Given the description of an element on the screen output the (x, y) to click on. 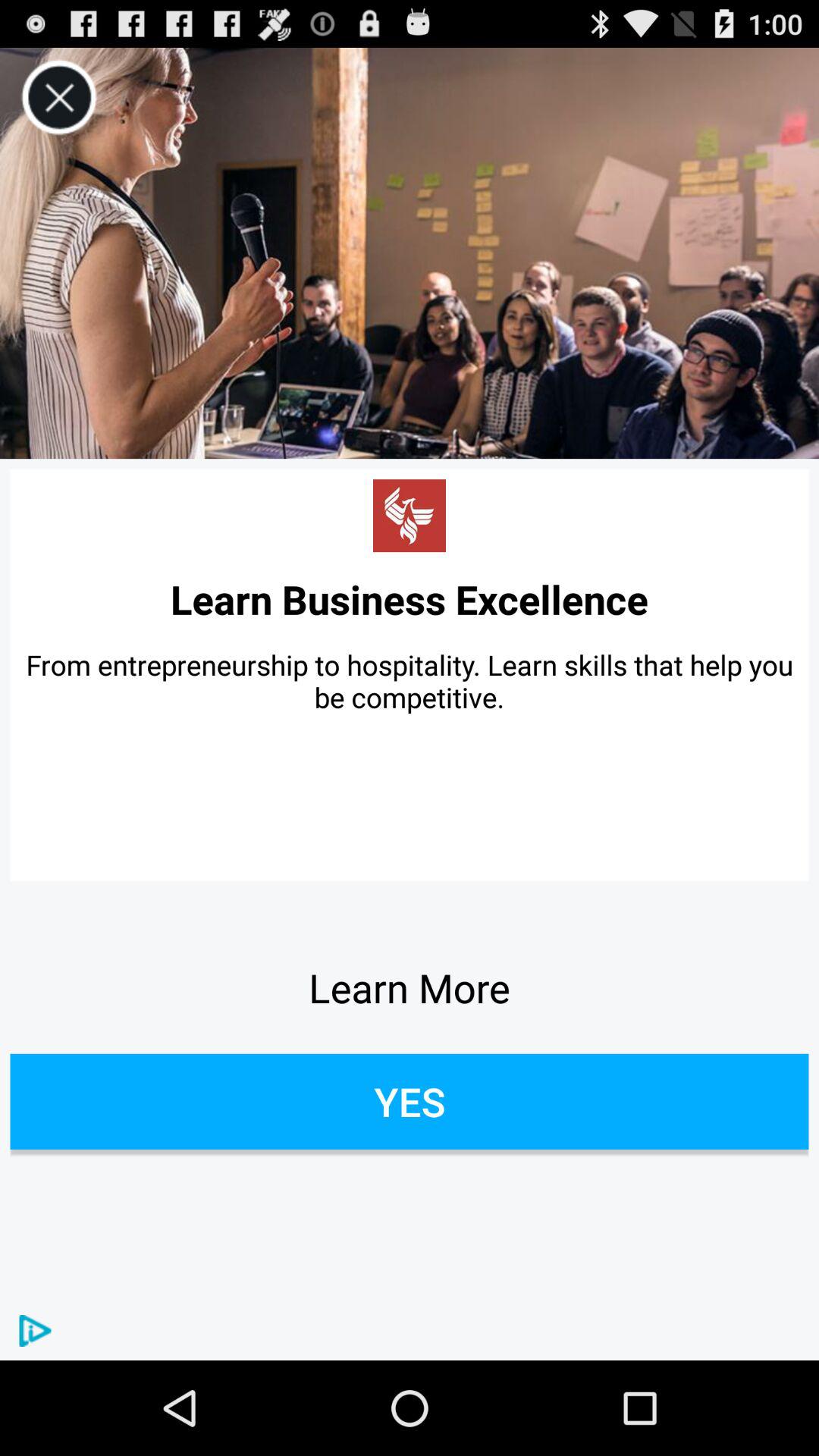
turn off the icon at the top (409, 252)
